Given the description of an element on the screen output the (x, y) to click on. 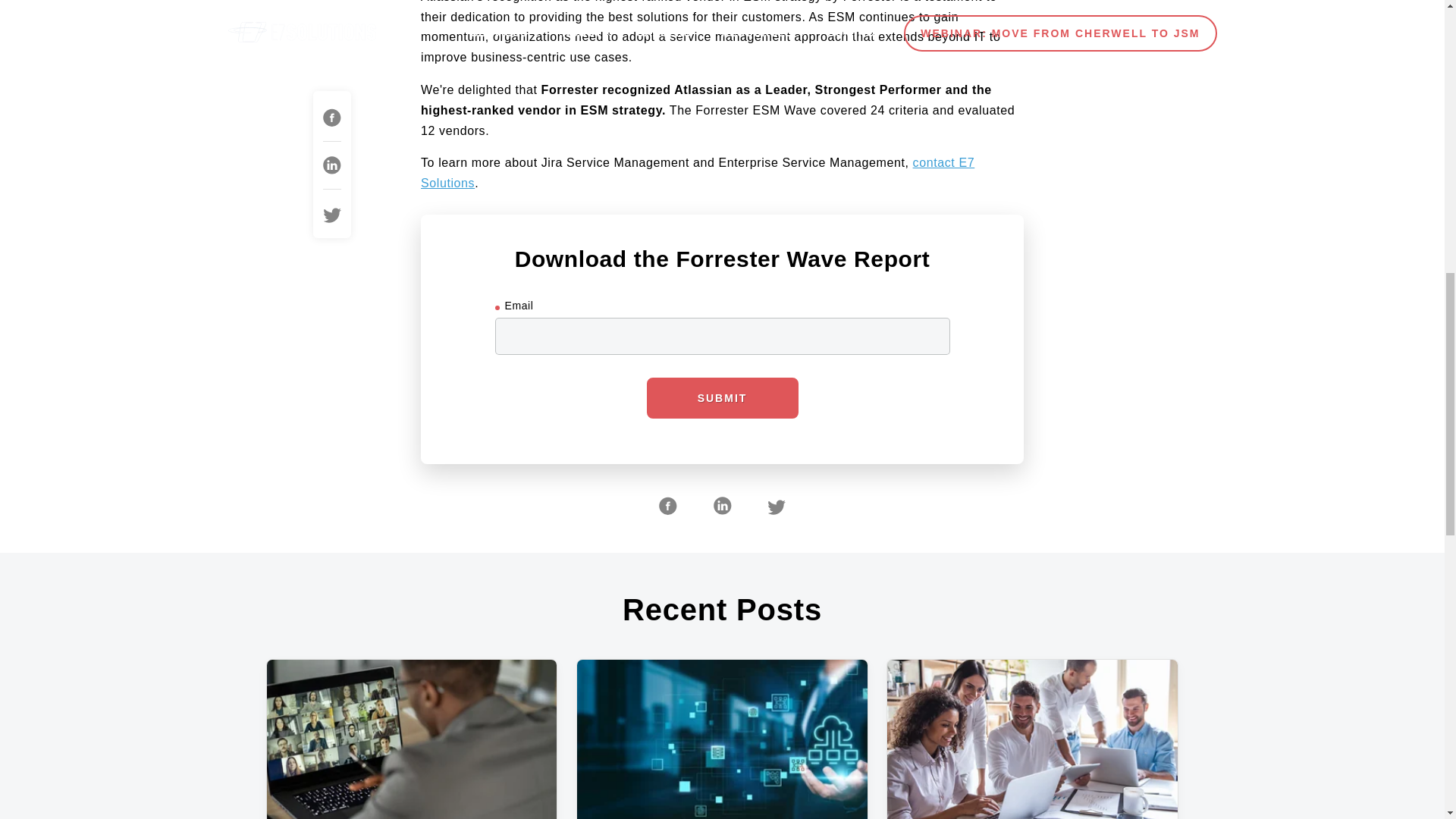
Submit (721, 397)
